Given the description of an element on the screen output the (x, y) to click on. 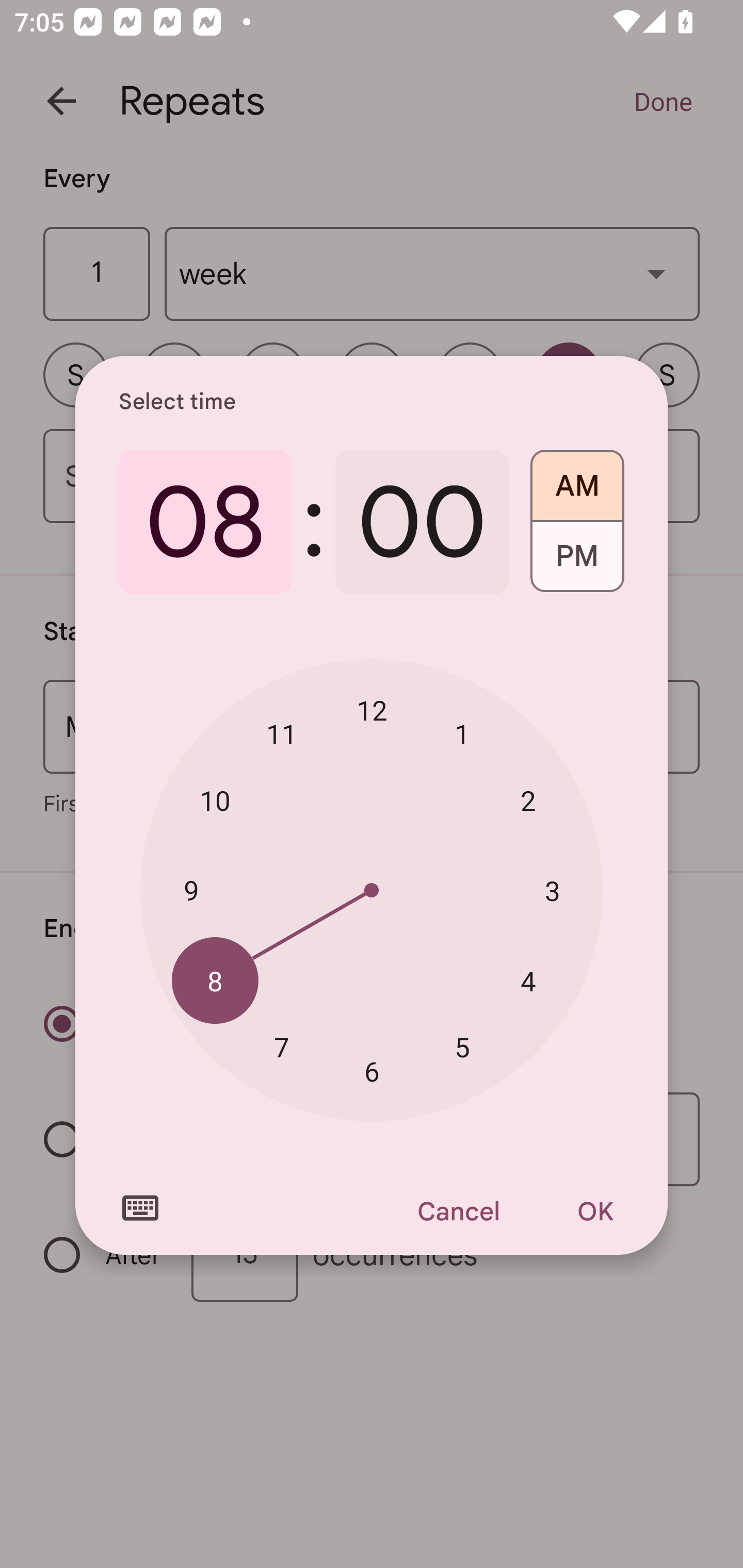
AM (577, 478)
08 8 o'clock (204, 522)
00 0 minutes (421, 522)
PM (577, 563)
12 12 o'clock (371, 710)
11 11 o'clock (281, 733)
1 1 o'clock (462, 733)
10 10 o'clock (214, 800)
2 2 o'clock (528, 800)
9 9 o'clock (190, 889)
3 3 o'clock (551, 890)
8 8 o'clock (214, 980)
4 4 o'clock (528, 980)
7 7 o'clock (281, 1046)
5 5 o'clock (462, 1046)
6 6 o'clock (371, 1071)
Switch to text input mode for the time input. (140, 1208)
Cancel (458, 1211)
OK (595, 1211)
